Given the description of an element on the screen output the (x, y) to click on. 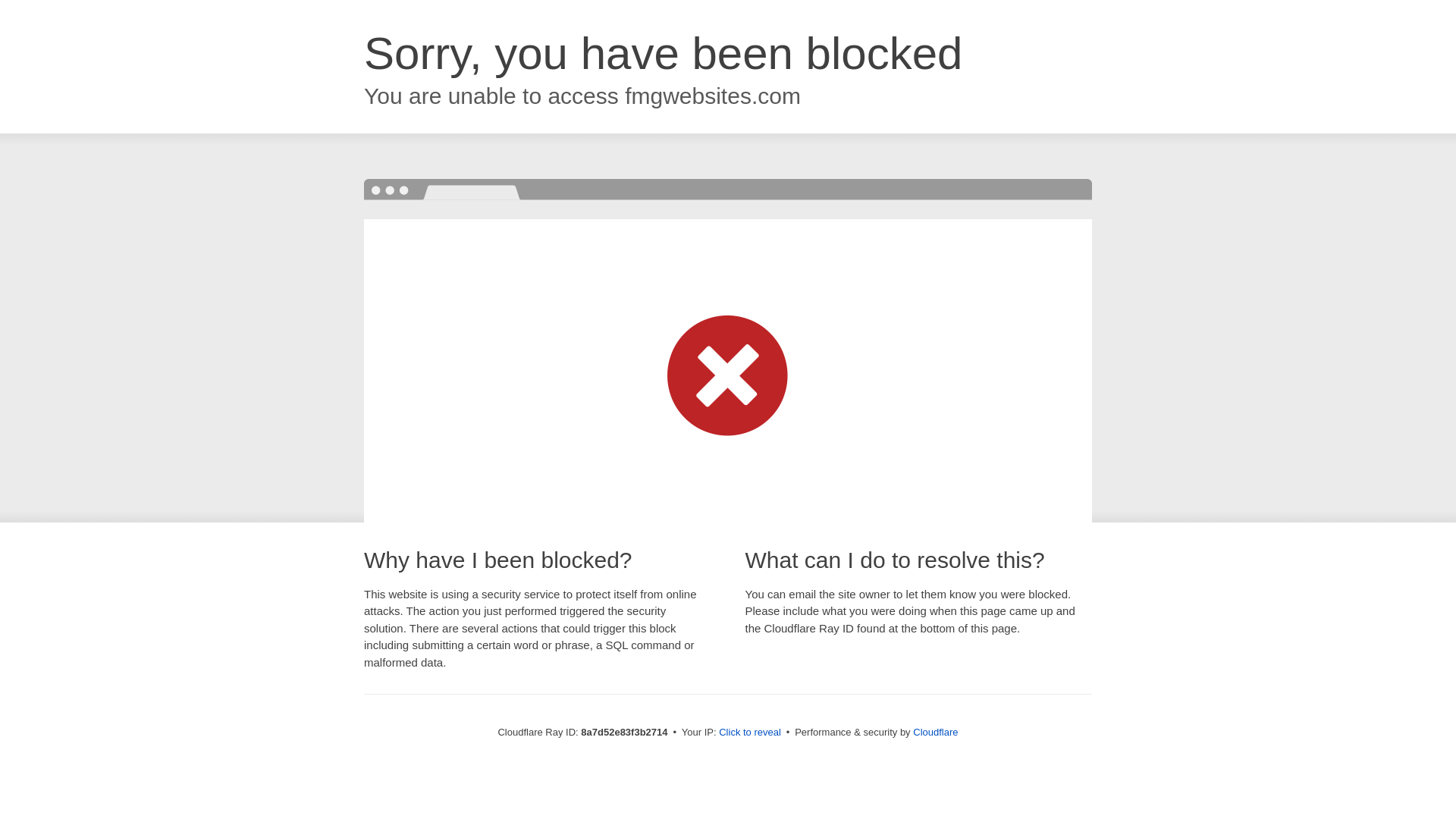
Cloudflare (935, 731)
Click to reveal (749, 732)
